Given the description of an element on the screen output the (x, y) to click on. 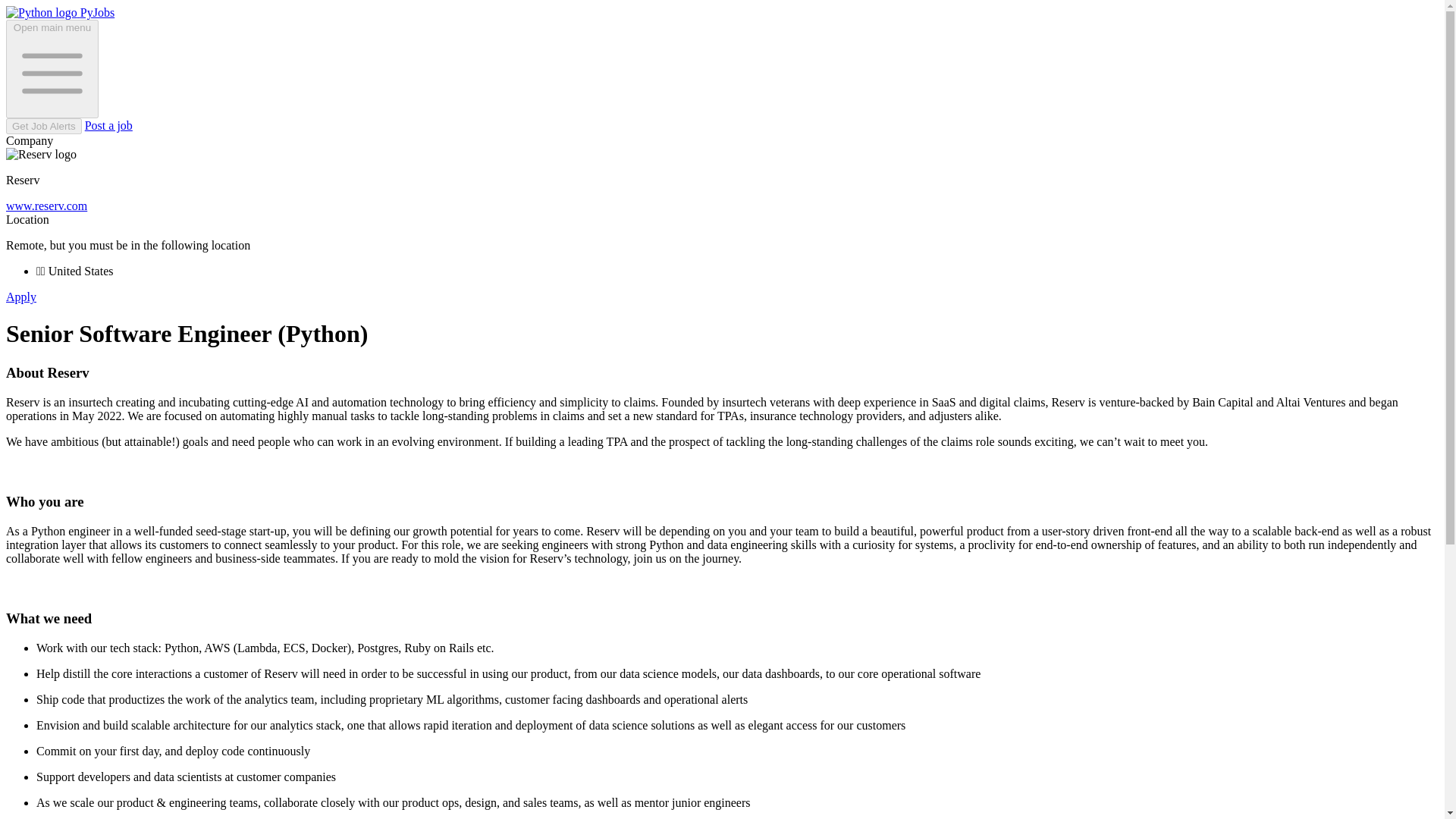
PyJobs (60, 11)
www.reserv.com (46, 205)
Apply (20, 296)
Get Job Alerts (43, 125)
Open main menu (52, 68)
Post a job (108, 124)
